Given the description of an element on the screen output the (x, y) to click on. 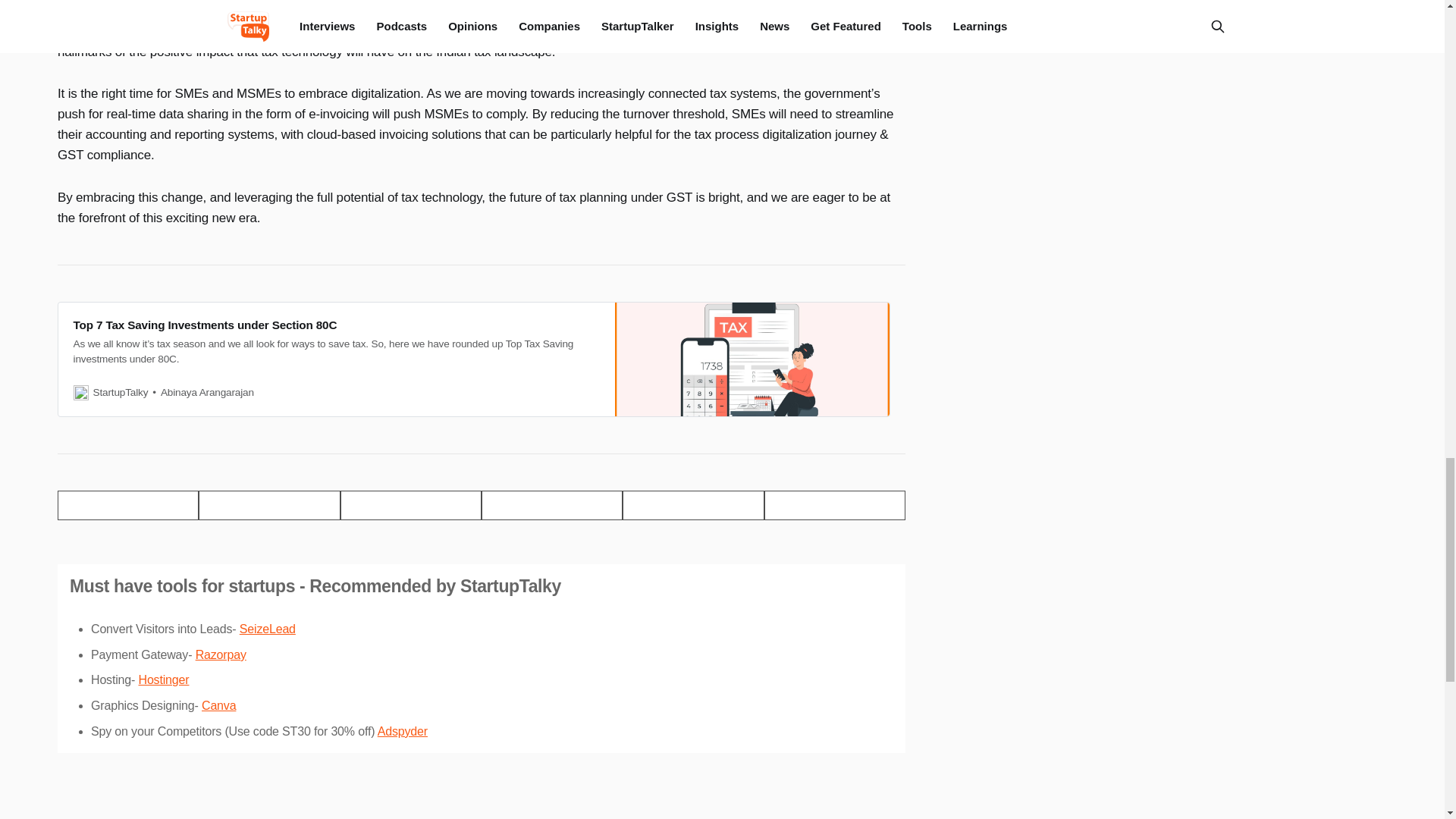
real-time invoicing (183, 30)
Razorpay (220, 654)
Adspyder (402, 730)
SeizeLead (267, 628)
Bookmark (834, 505)
Hostinger (163, 679)
Share on Facebook (268, 505)
Canva (218, 705)
Copy to clipboard (692, 505)
Share on Linkedin (410, 505)
Share on Twitter (128, 505)
Share by email (552, 505)
